Given the description of an element on the screen output the (x, y) to click on. 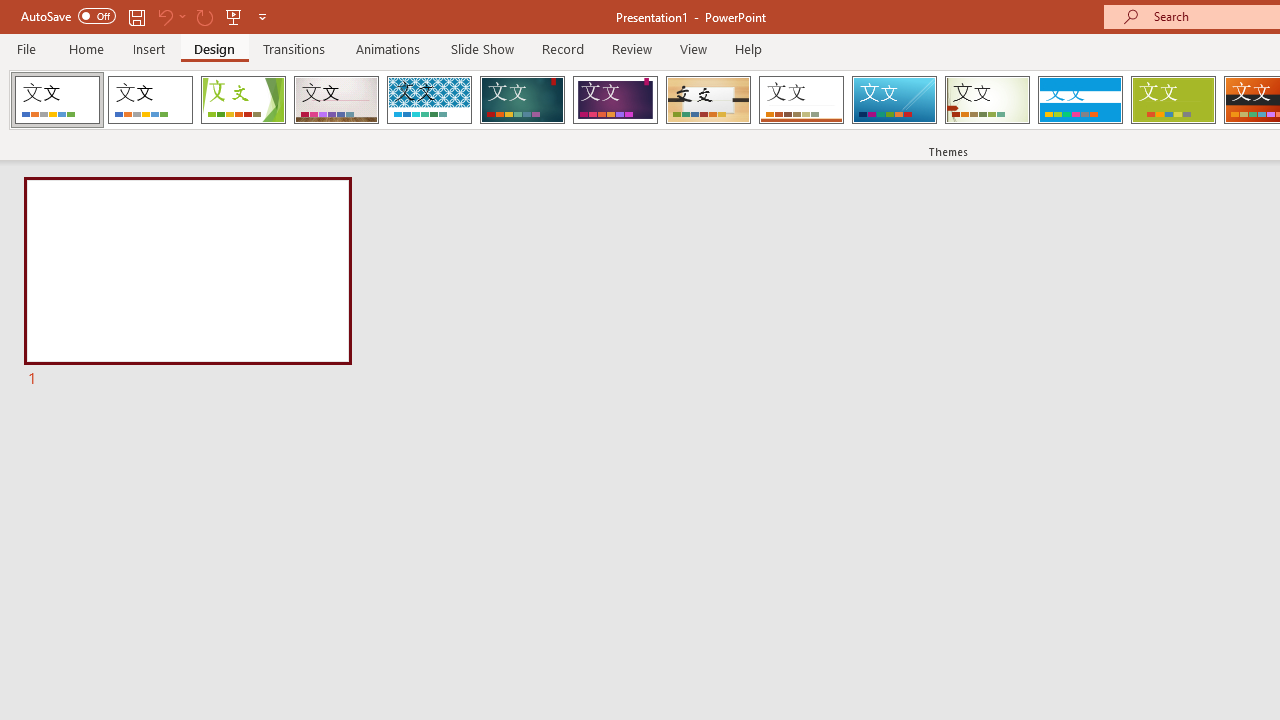
Integral Loading Preview... (429, 100)
Office Theme (150, 100)
